Given the description of an element on the screen output the (x, y) to click on. 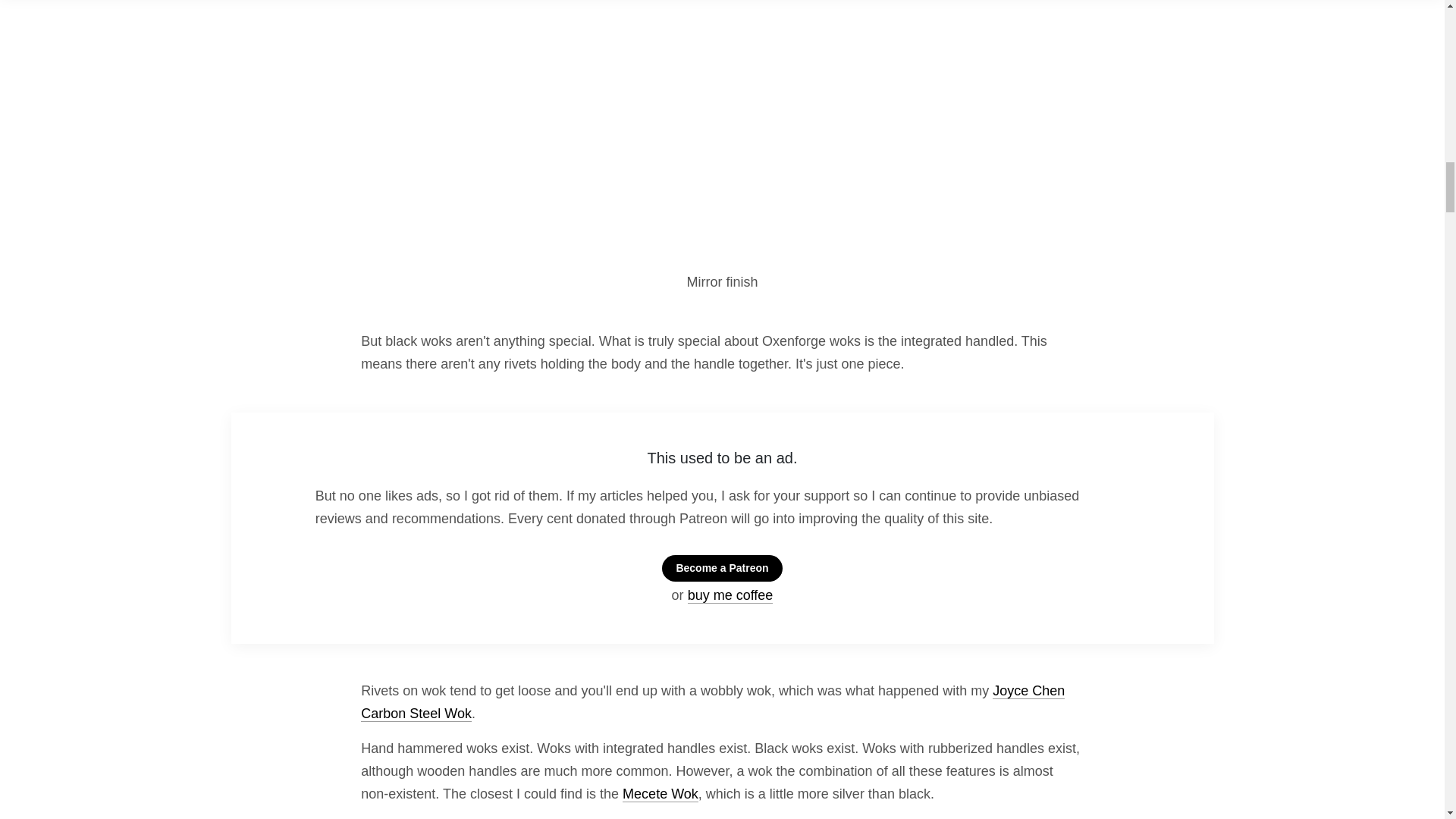
Joyce Chen Carbon Steel Wok (712, 702)
Mecete Wok (660, 794)
Become a Patreon (721, 568)
Joyce Chen Carbon Steel Wok Amazon (712, 702)
Become a Patreon (722, 568)
Mecete Wok (660, 794)
buy me coffee (730, 595)
